Given the description of an element on the screen output the (x, y) to click on. 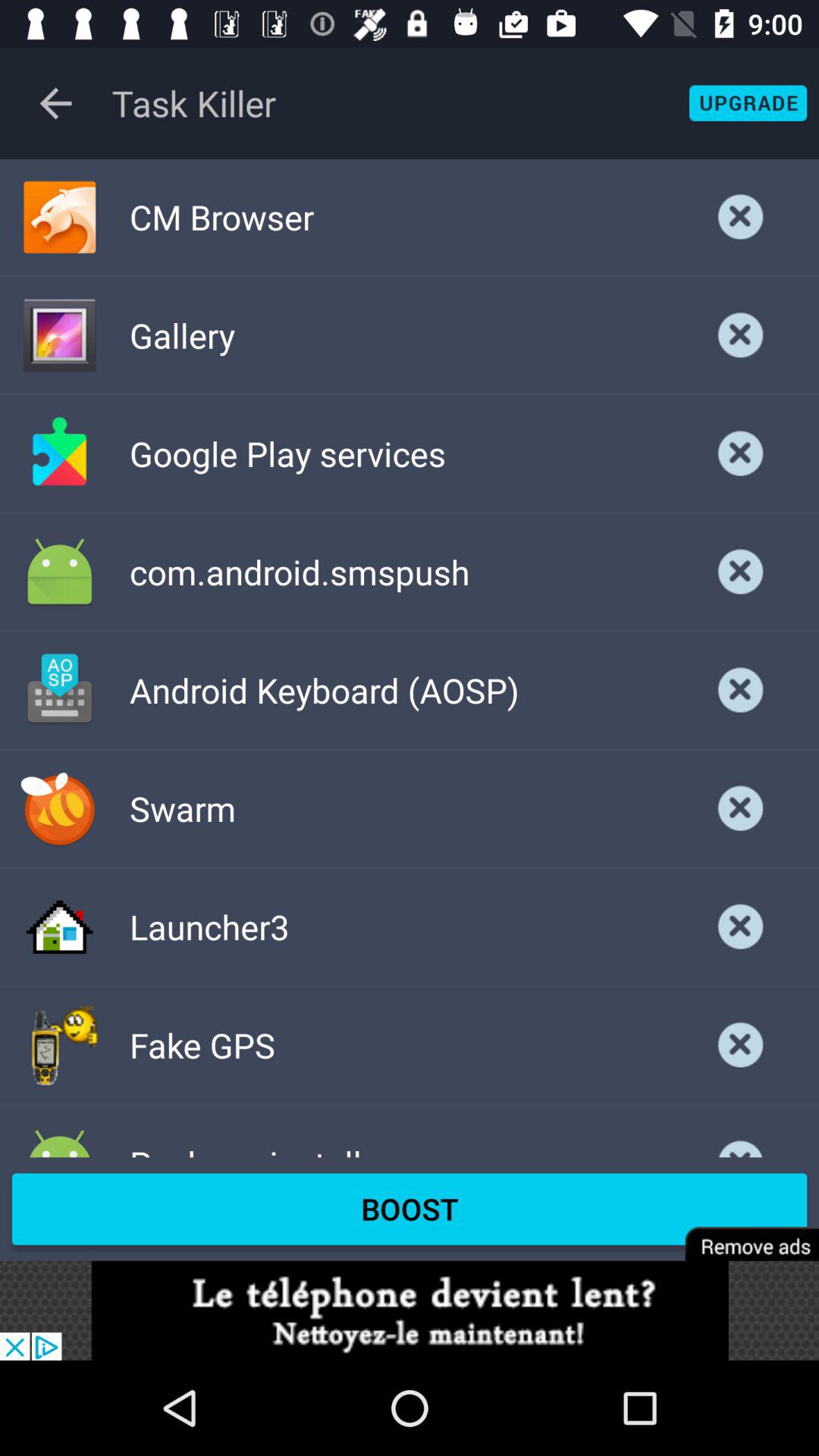
delete button (740, 217)
